Given the description of an element on the screen output the (x, y) to click on. 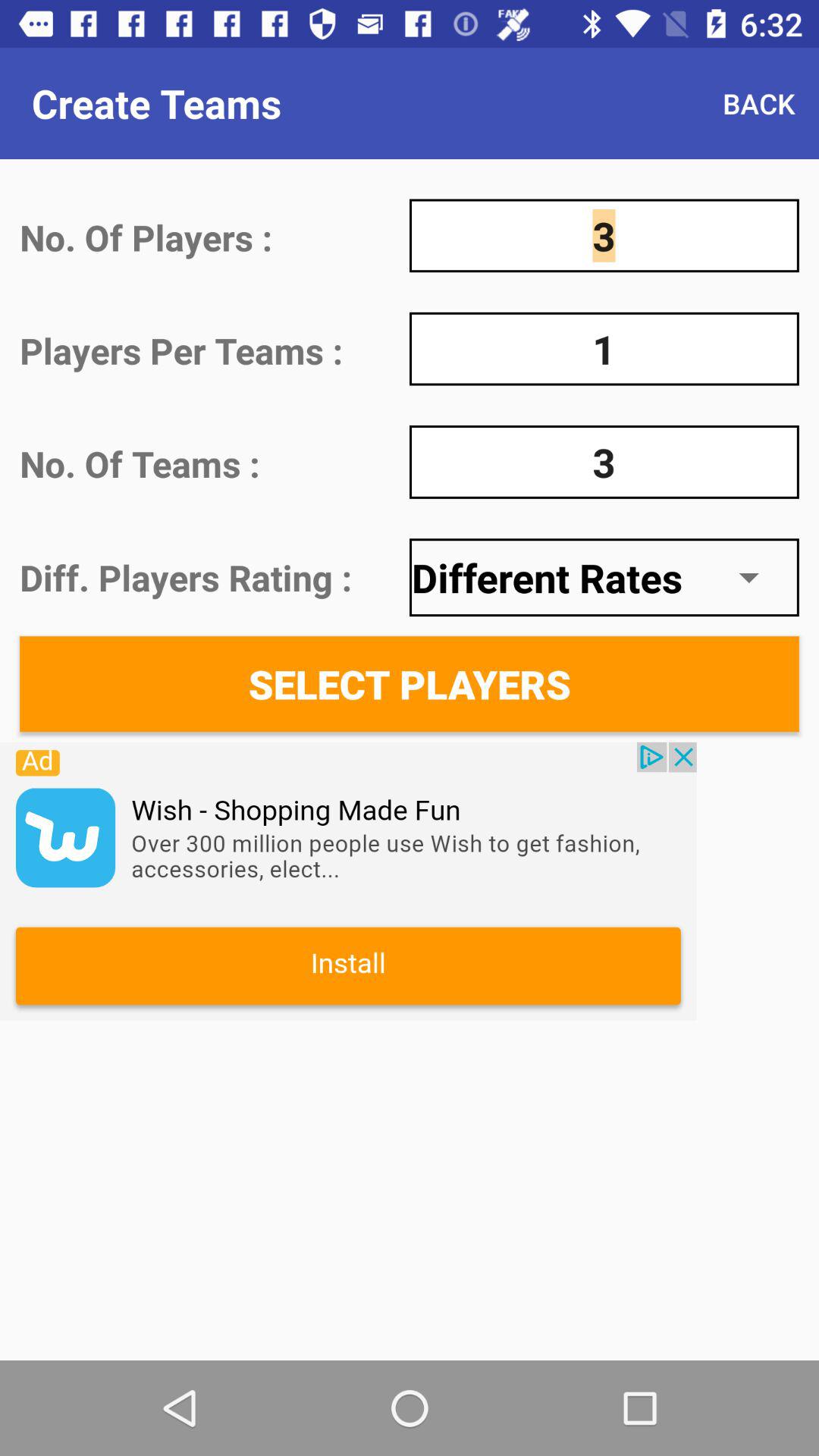
install wish app (348, 881)
